Given the description of an element on the screen output the (x, y) to click on. 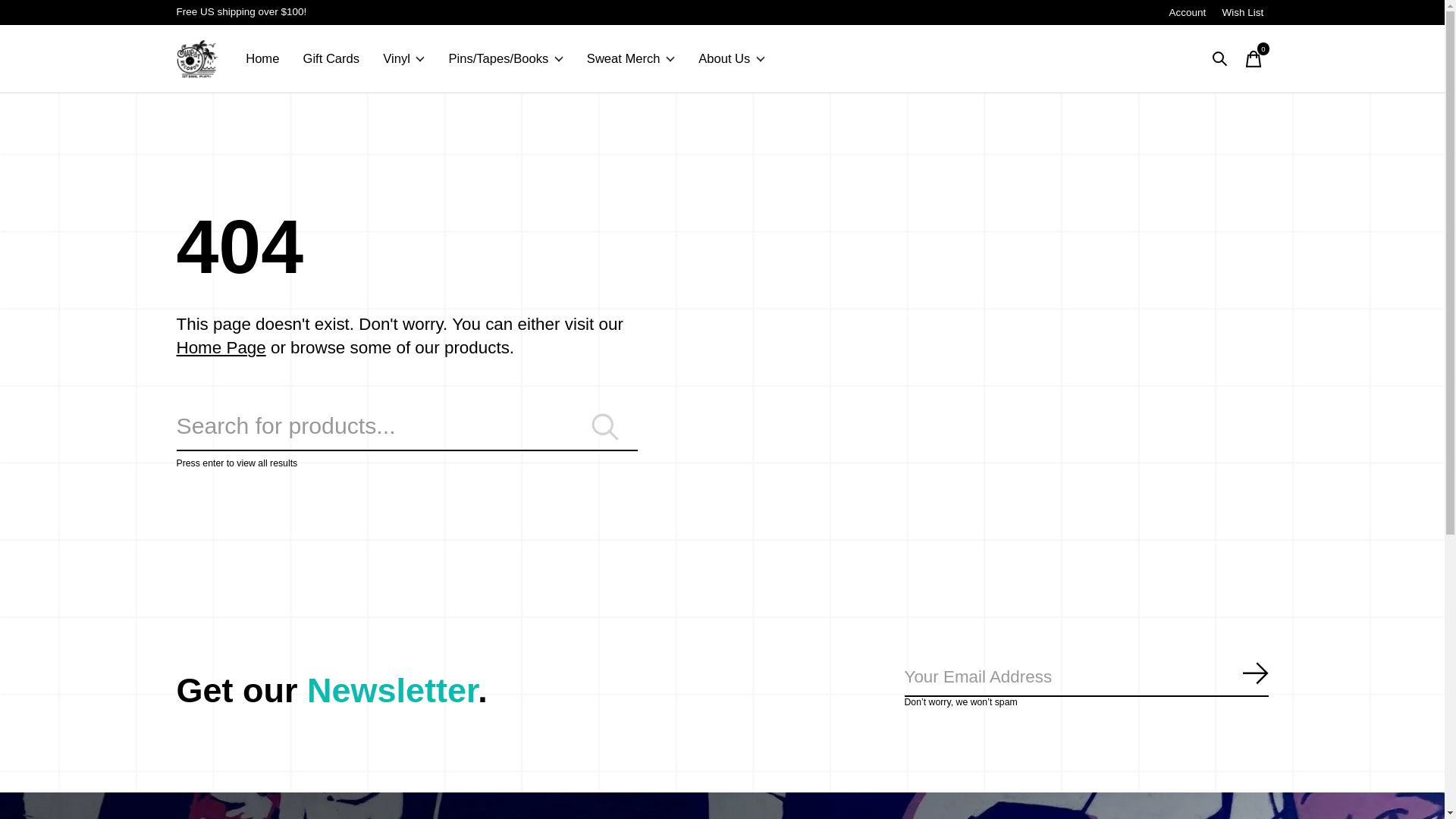
Gift Cards (331, 58)
Wish List (1242, 11)
Account (1186, 11)
Vinyl (403, 58)
Gift Cards (331, 58)
